Given the description of an element on the screen output the (x, y) to click on. 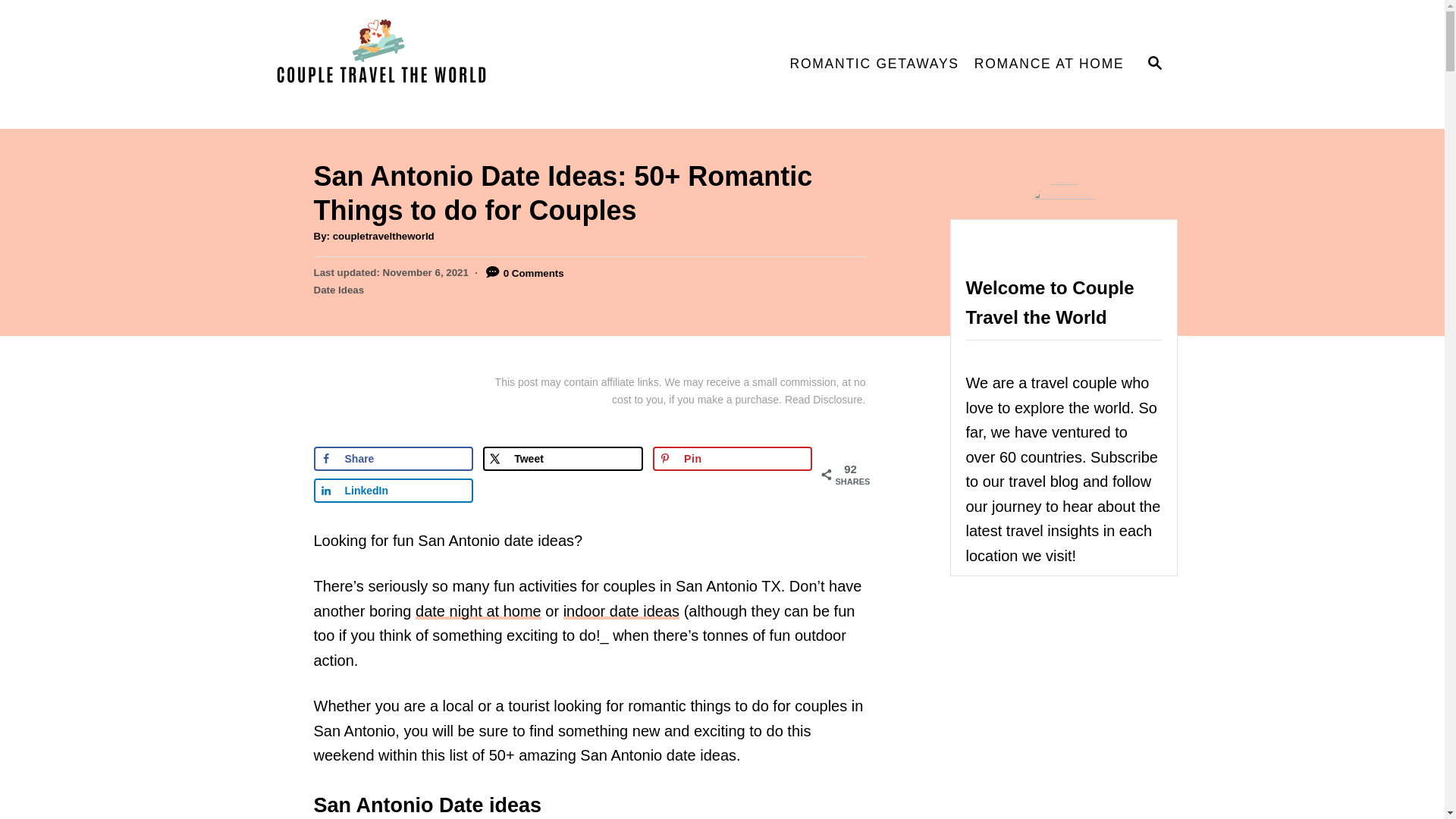
Share (394, 458)
Date Ideas (339, 289)
ROMANTIC GETAWAYS (874, 64)
coupletraveltheworld (383, 235)
Disclosure (836, 399)
Share on LinkedIn (394, 490)
Share on Facebook (394, 458)
LinkedIn (394, 490)
date night at home (477, 610)
indoor date ideas (621, 610)
Pin (732, 458)
Share on X (563, 458)
Tweet (563, 458)
SEARCH (1153, 63)
ROMANCE AT HOME (1049, 64)
